Given the description of an element on the screen output the (x, y) to click on. 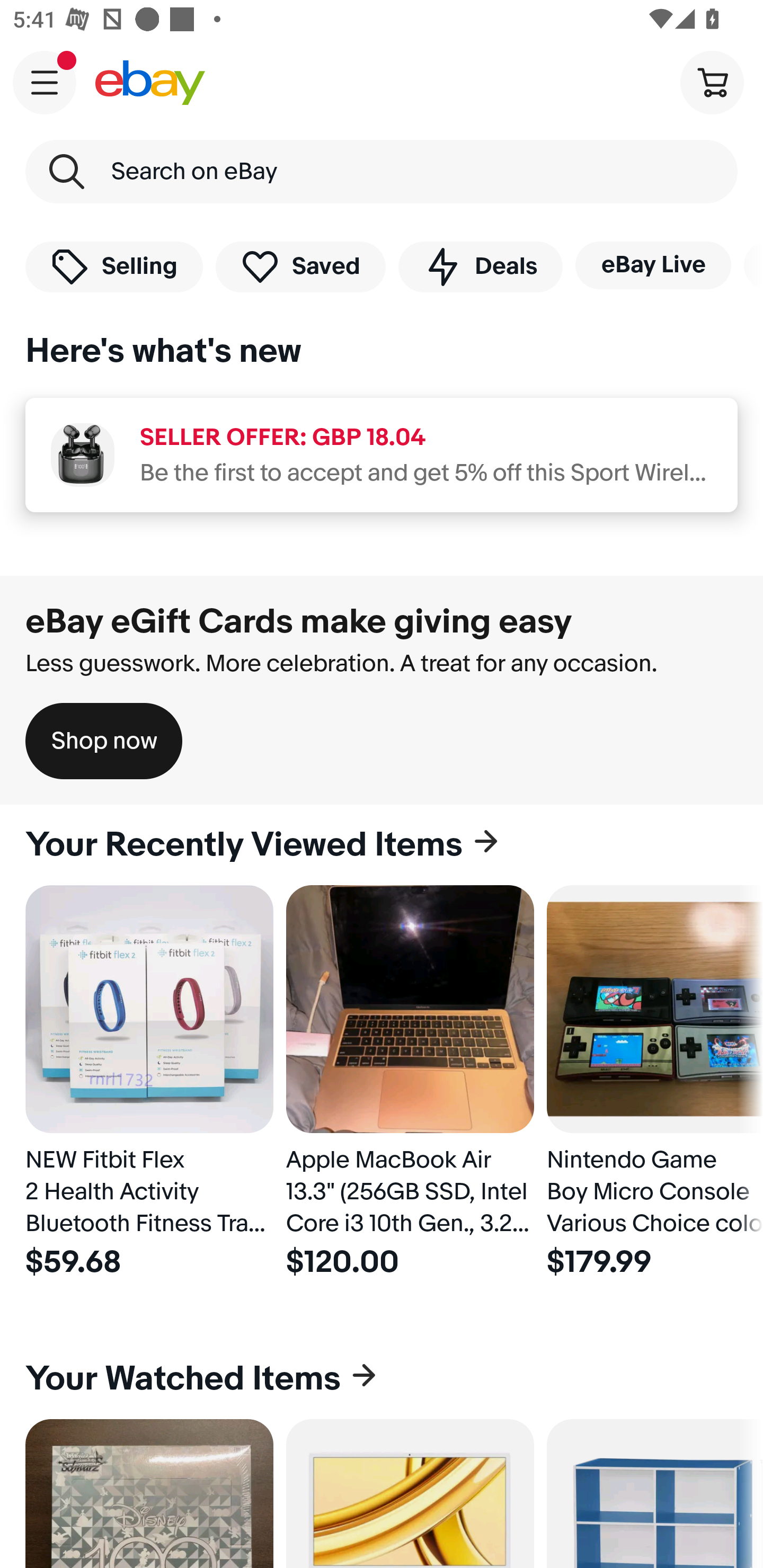
Main navigation, notification is pending, open (44, 82)
Cart button shopping cart (711, 81)
Search on eBay Search Keyword Search on eBay (381, 171)
Selling (113, 266)
Saved (300, 266)
Deals (480, 266)
eBay Live (652, 264)
eBay eGift Cards make giving easy (298, 621)
Shop now (103, 740)
Your Recently Viewed Items   (381, 844)
Your Watched Items   (381, 1379)
